Given the description of an element on the screen output the (x, y) to click on. 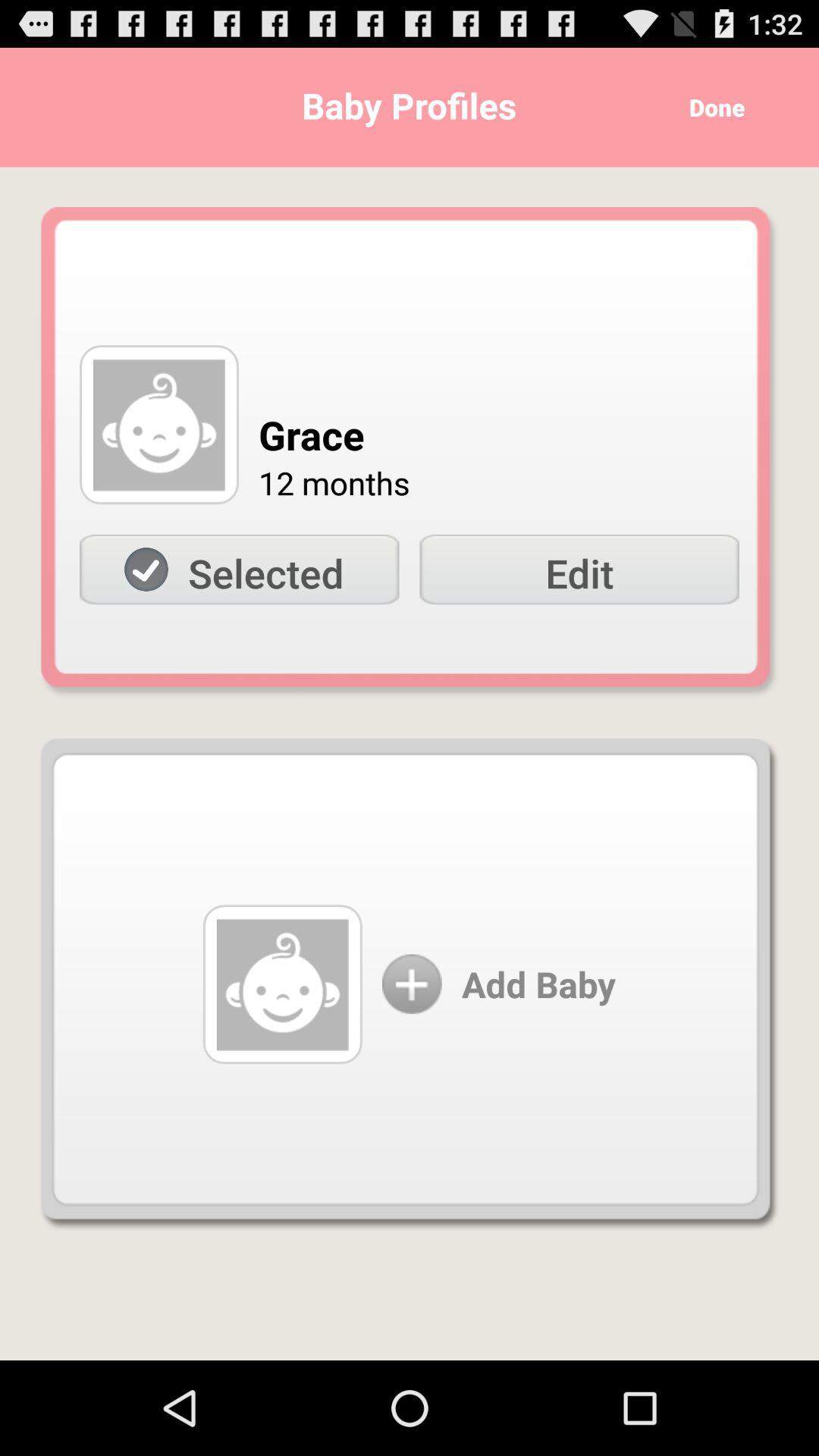
swipe to the done icon (711, 107)
